Given the description of an element on the screen output the (x, y) to click on. 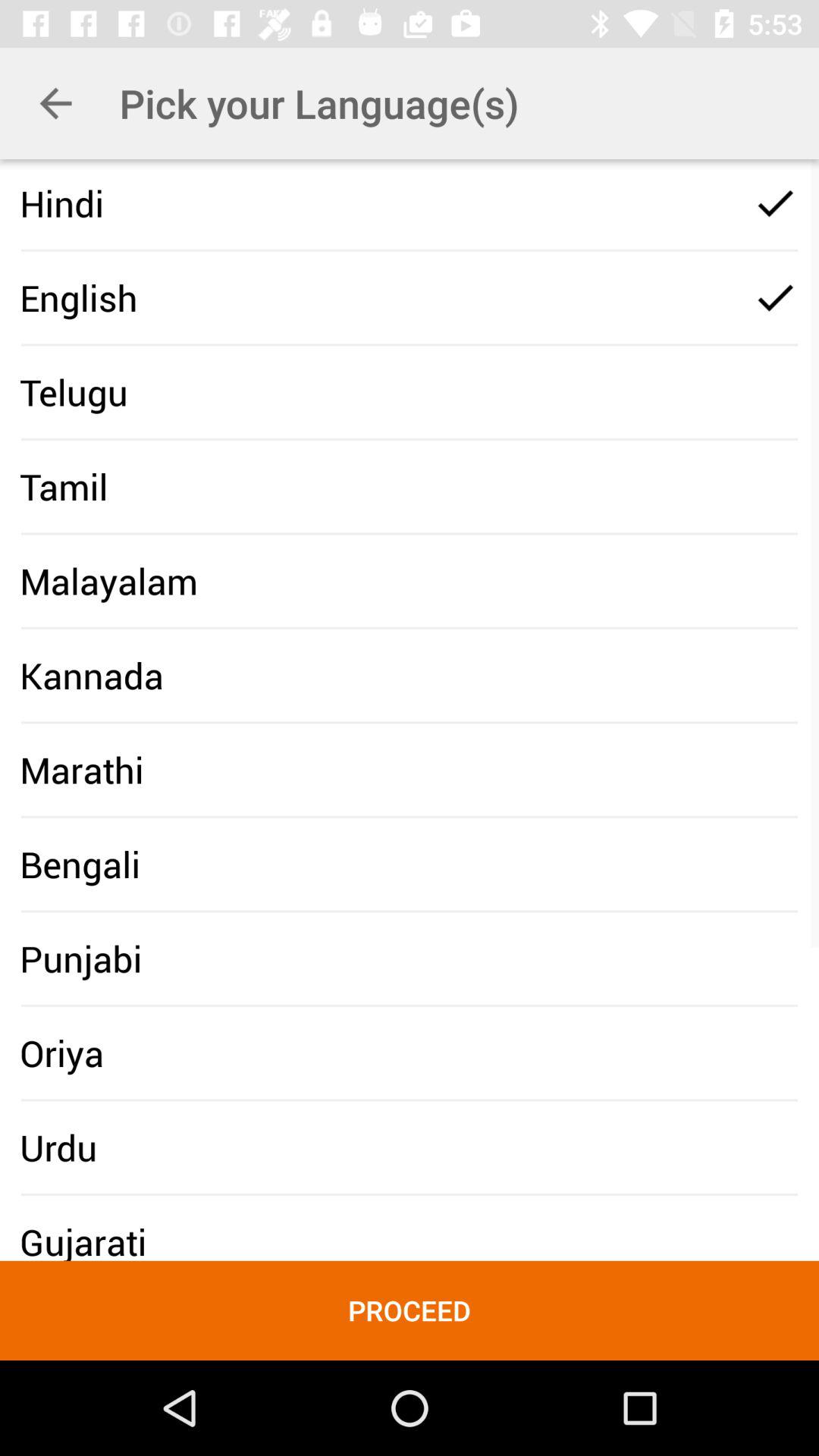
tap the item to the left of pick your language (55, 103)
